Given the description of an element on the screen output the (x, y) to click on. 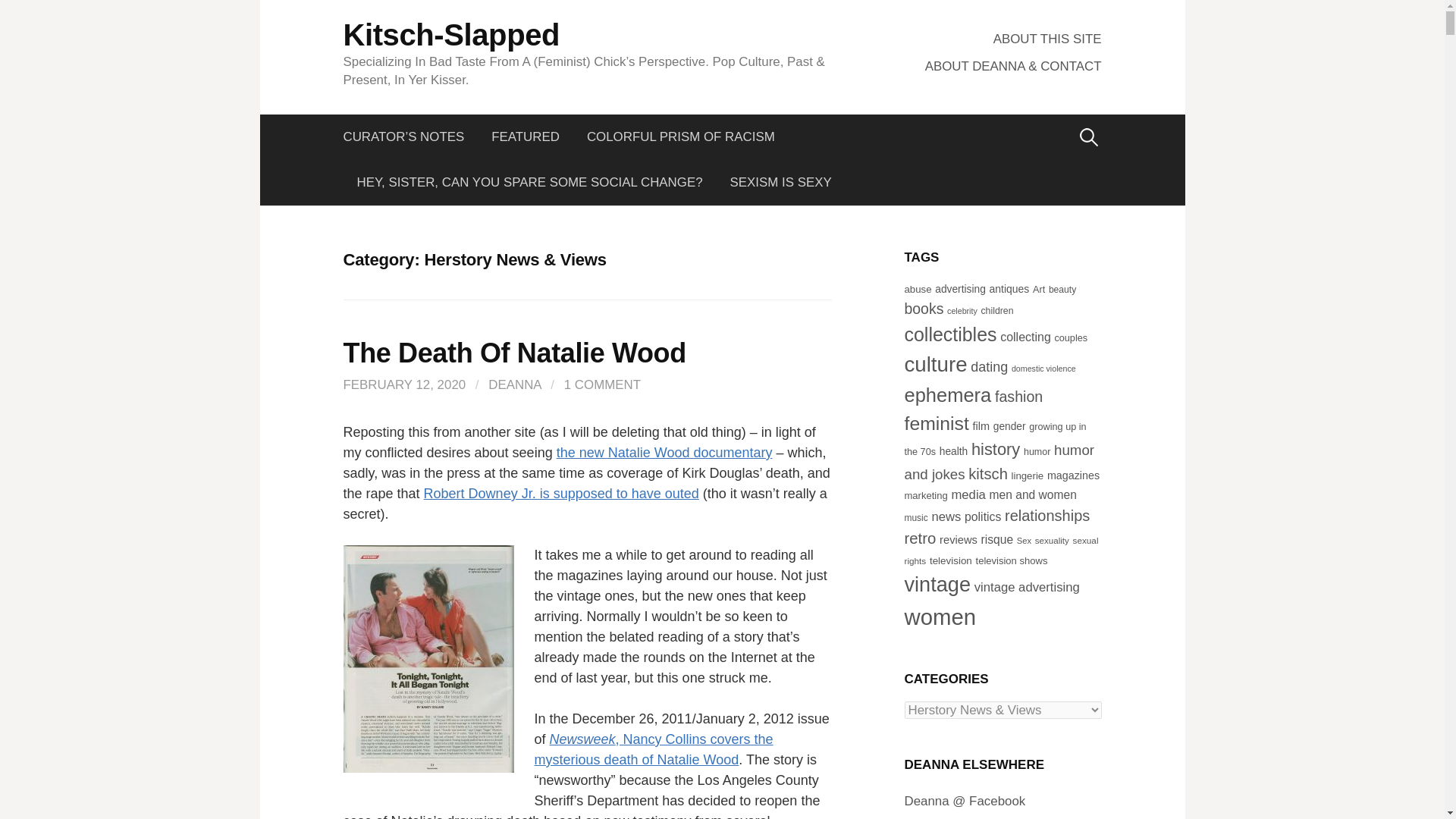
DEANNA (513, 384)
Robert Downey Jr. is supposed to have outed (560, 493)
FEATURED (525, 136)
SEXISM IS SEXY (780, 182)
Search (16, 16)
Kitsch-Slapped (450, 34)
The Death Of Natalie Wood (513, 352)
COLORFUL PRISM OF RACISM (681, 136)
the new Natalie Wood documentary (664, 452)
FEBRUARY 12, 2020 (403, 384)
1 COMMENT (602, 384)
HEY, SISTER, CAN YOU SPARE SOME SOCIAL CHANGE? (529, 182)
ABOUT THIS SITE (1047, 39)
